Given the description of an element on the screen output the (x, y) to click on. 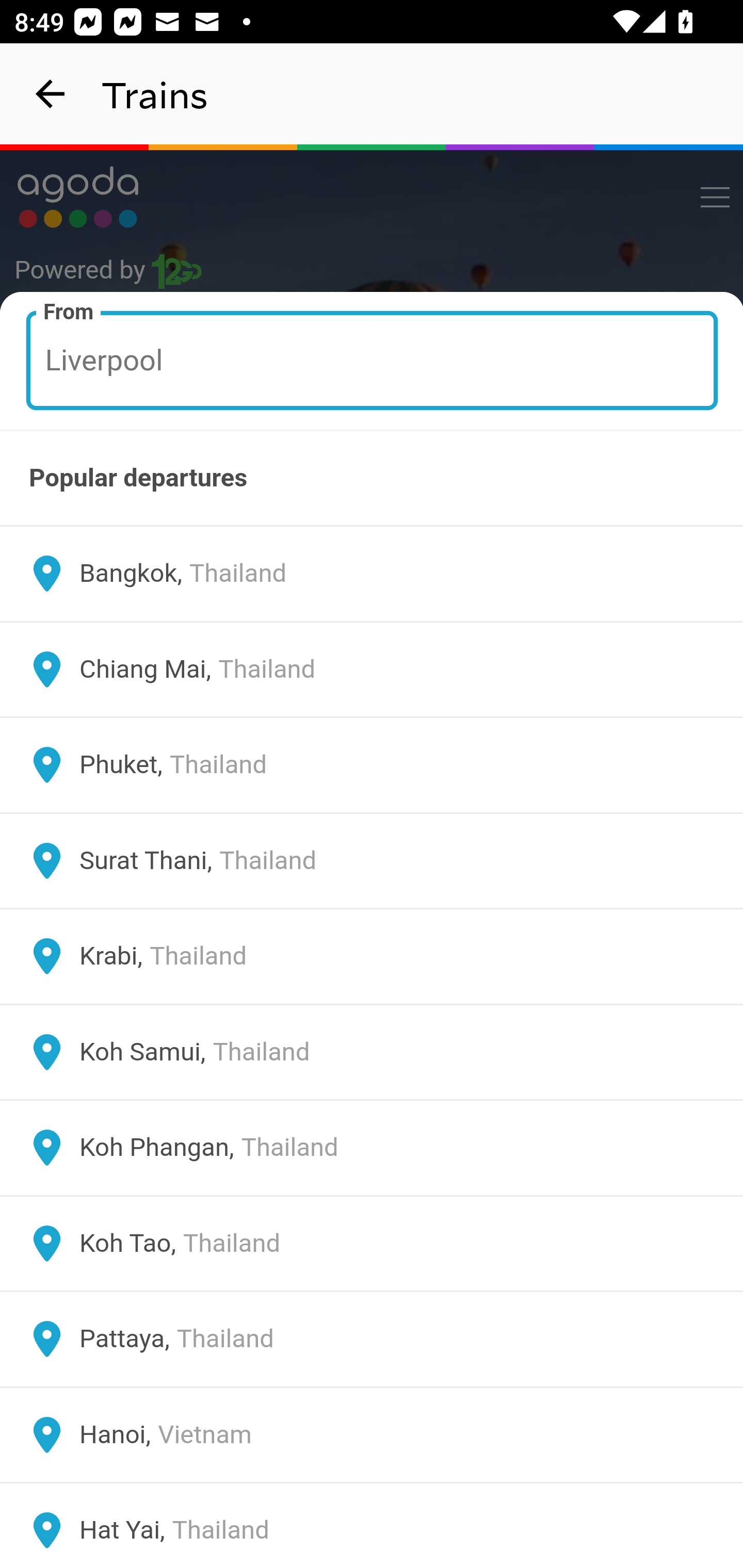
navigation_button (50, 93)
Popular departures (371, 477)
Bangkok,Thailand (371, 573)
Chiang Mai,Thailand (371, 669)
Phuket,Thailand (371, 764)
Surat Thani,Thailand (371, 860)
Krabi,Thailand (371, 956)
Koh Samui,Thailand (371, 1051)
Koh Phangan,Thailand (371, 1147)
Koh Tao,Thailand (371, 1243)
Pattaya,Thailand (371, 1339)
Hanoi,Vietnam (371, 1434)
Hat Yai,Thailand (371, 1524)
